Given the description of an element on the screen output the (x, y) to click on. 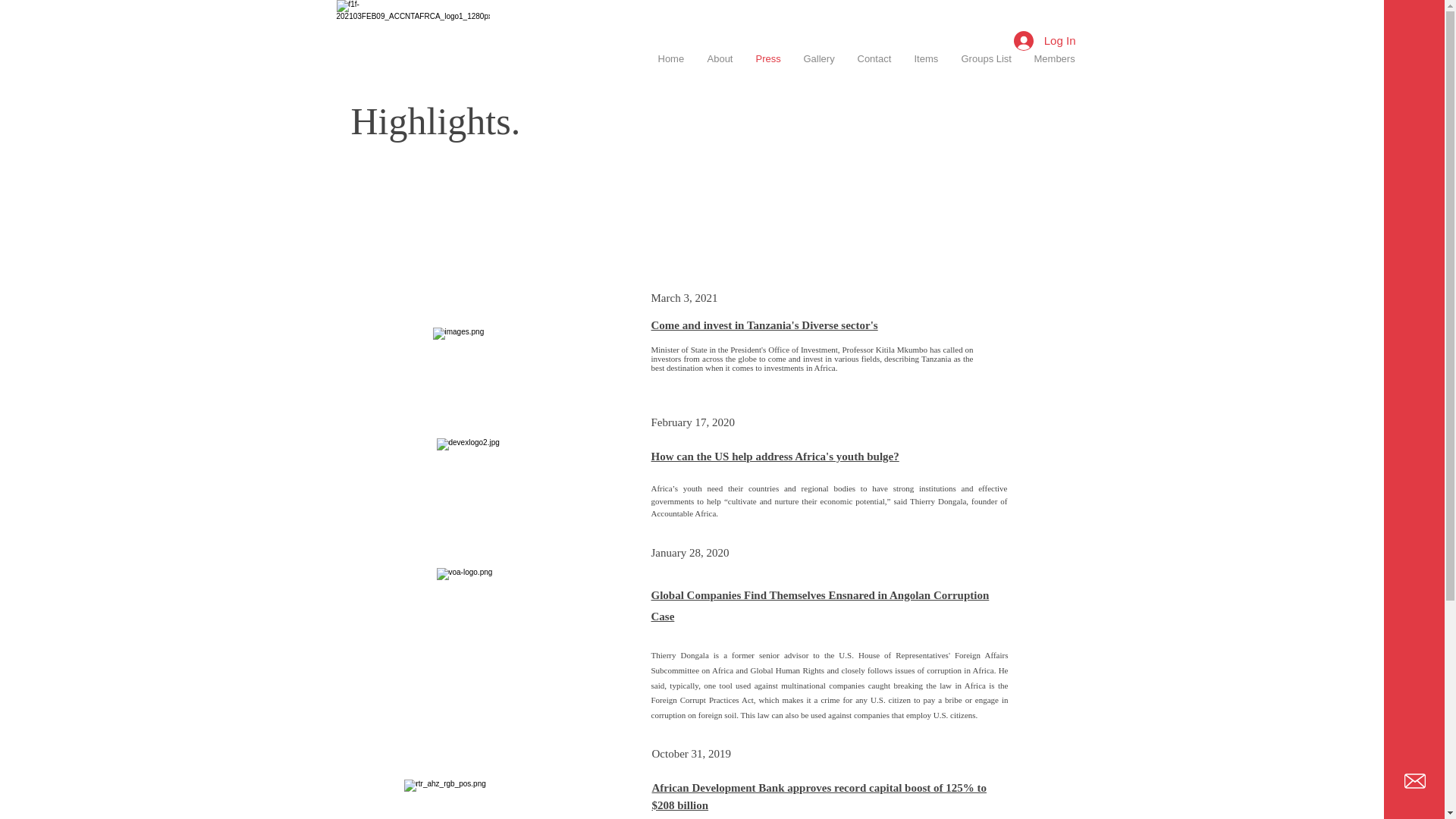
Press (768, 58)
Come and invest in Tanzania's Diverse sector's (763, 324)
Items (925, 58)
Contact (873, 58)
Log In (1044, 39)
About (719, 58)
How can the US help address Africa's youth bulge? (774, 456)
Members (1054, 58)
Home (670, 58)
Gallery (818, 58)
Groups List (985, 58)
